Given the description of an element on the screen output the (x, y) to click on. 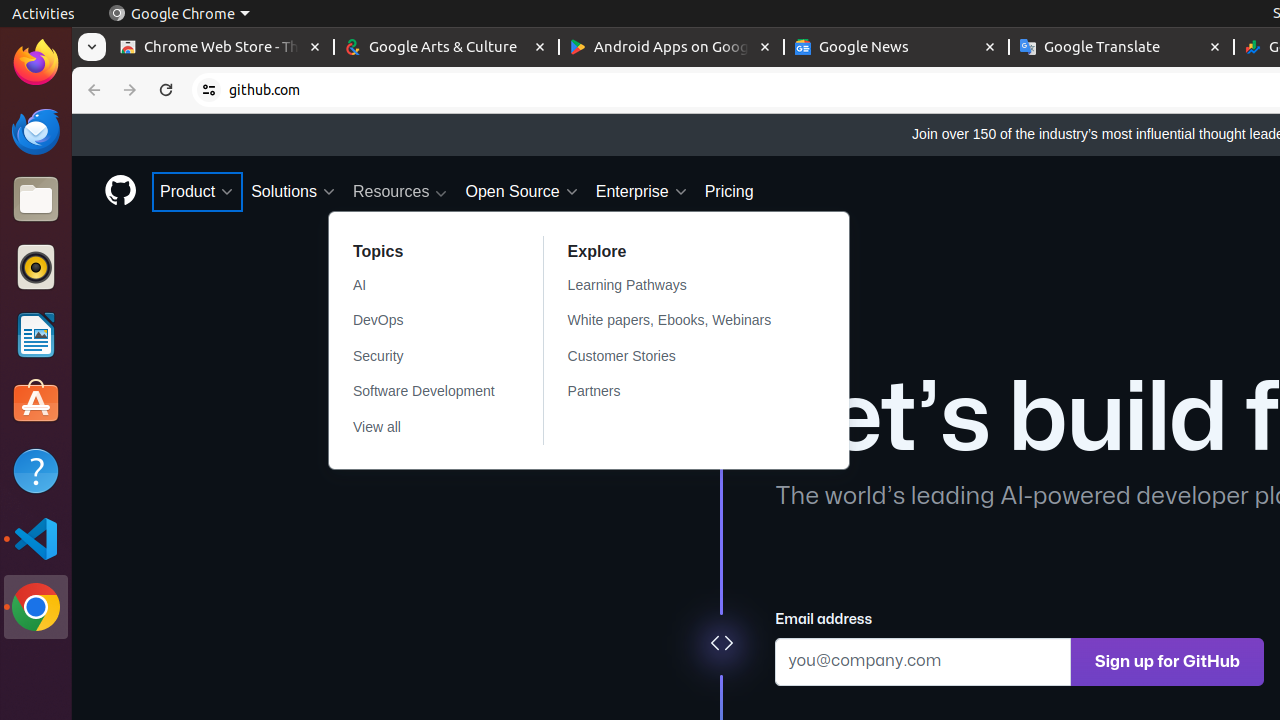
Google Chrome Element type: push-button (36, 607)
Google Chrome Element type: menu (179, 13)
Android Apps on Google Play - Memory usage - 52.4 MB Element type: page-tab (671, 47)
Open Source Element type: push-button (522, 191)
Thunderbird Mail Element type: push-button (36, 131)
